Given the description of an element on the screen output the (x, y) to click on. 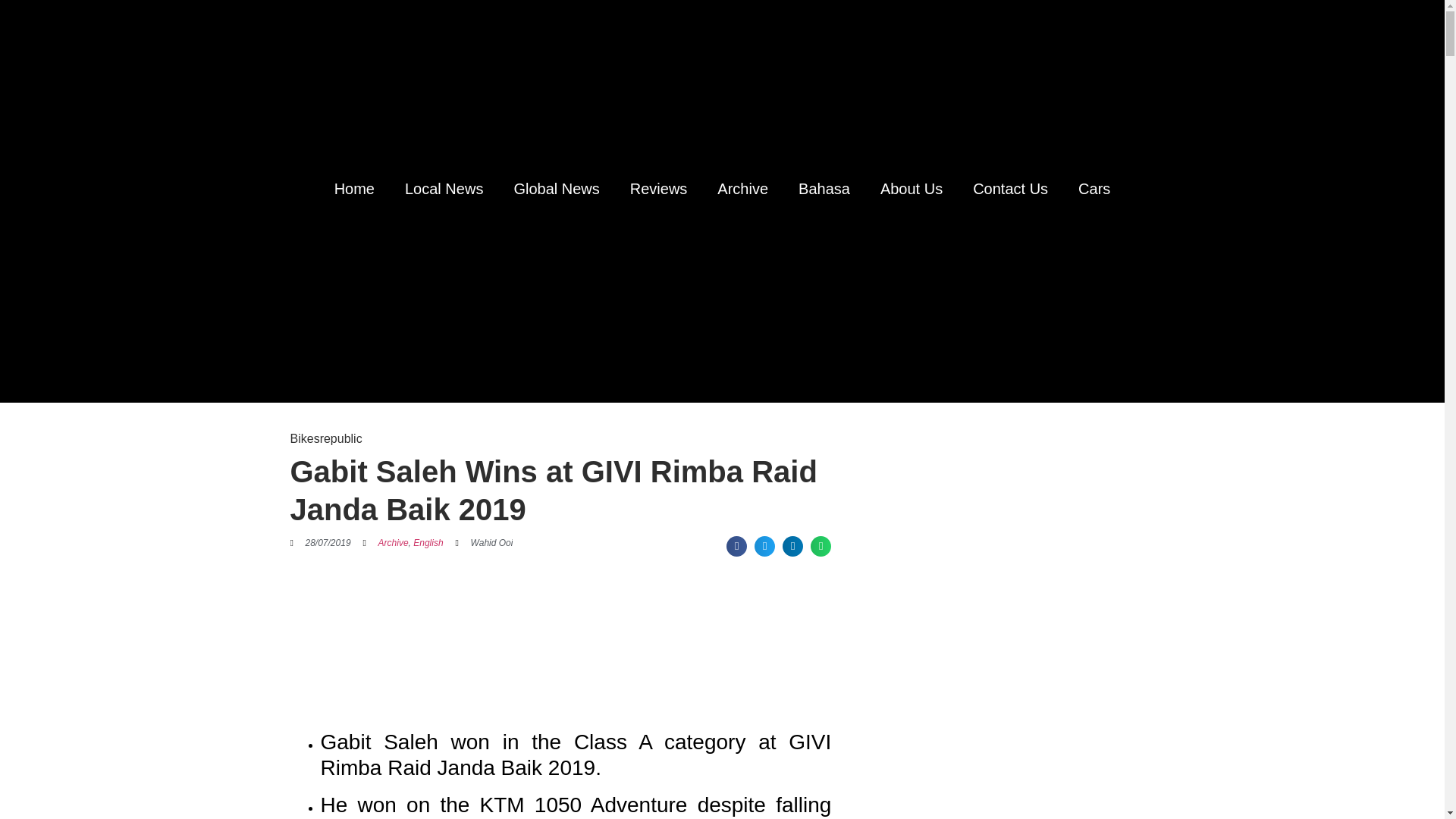
Local News (443, 188)
Bahasa (823, 188)
Wahid Ooi (484, 542)
Archive (393, 542)
About Us (911, 188)
Contact Us (1010, 188)
Archive (742, 188)
Reviews (658, 188)
Cars (1093, 188)
English (427, 542)
